Given the description of an element on the screen output the (x, y) to click on. 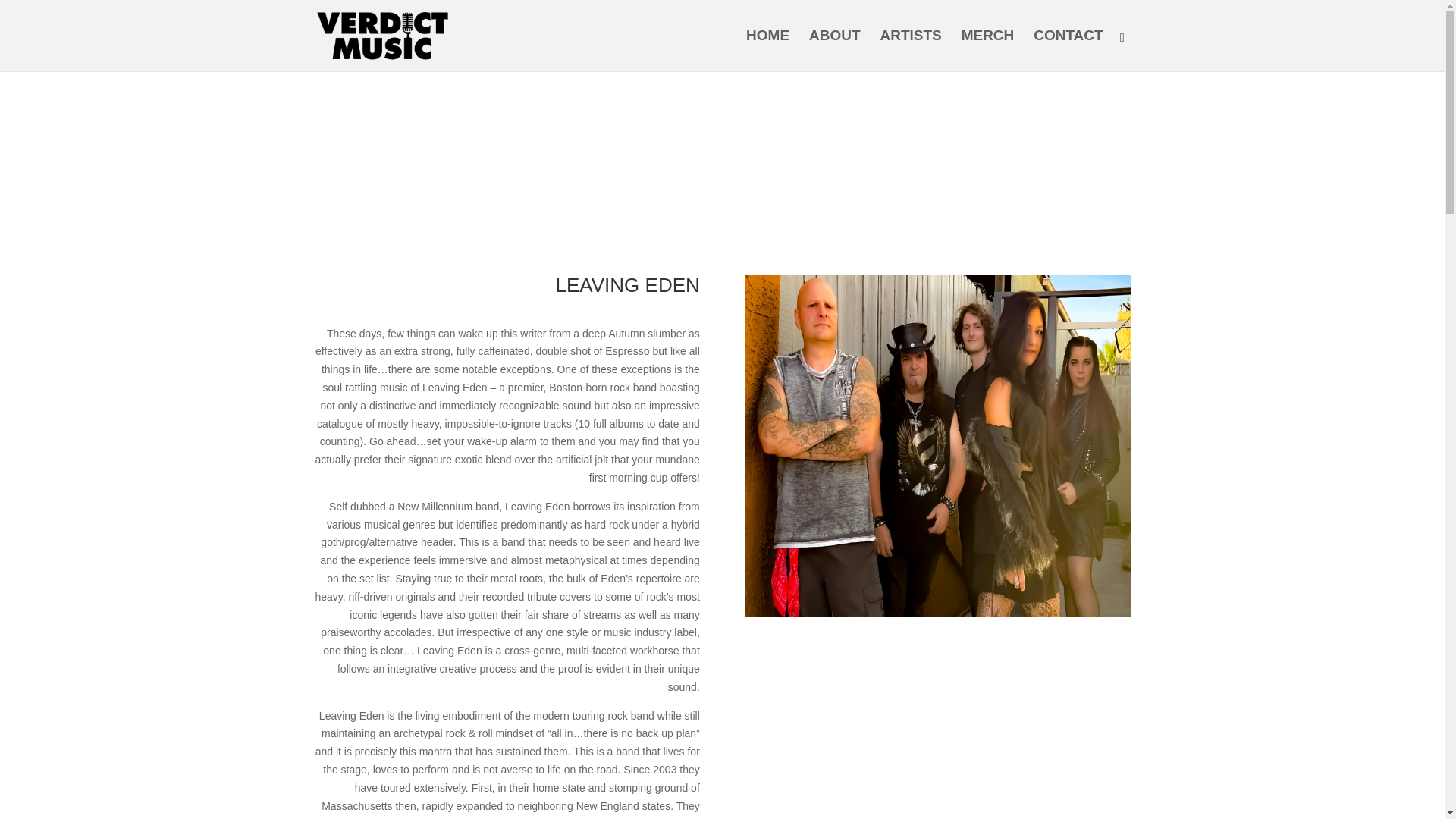
ABOUT (834, 50)
HOME (767, 50)
CONTACT (1067, 50)
MERCH (987, 50)
ARTISTS (909, 50)
